Given the description of an element on the screen output the (x, y) to click on. 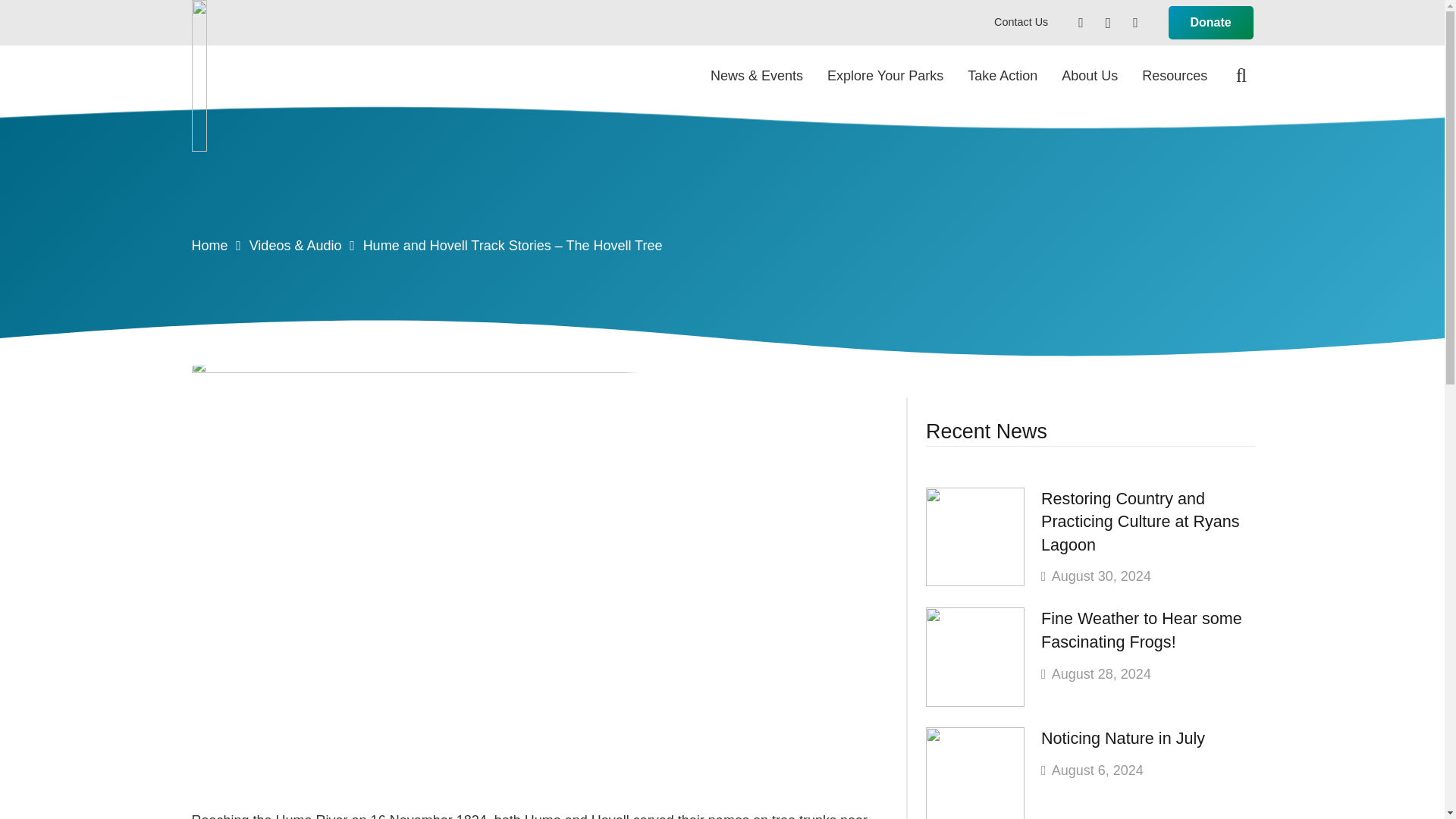
Instagram (1107, 22)
Resources (1174, 75)
Take Action (1002, 75)
Contact Us (1021, 21)
Facebook (1080, 22)
YouTube (1134, 22)
Explore Your Parks (885, 75)
Donate (1211, 22)
About Us (1089, 75)
